Given the description of an element on the screen output the (x, y) to click on. 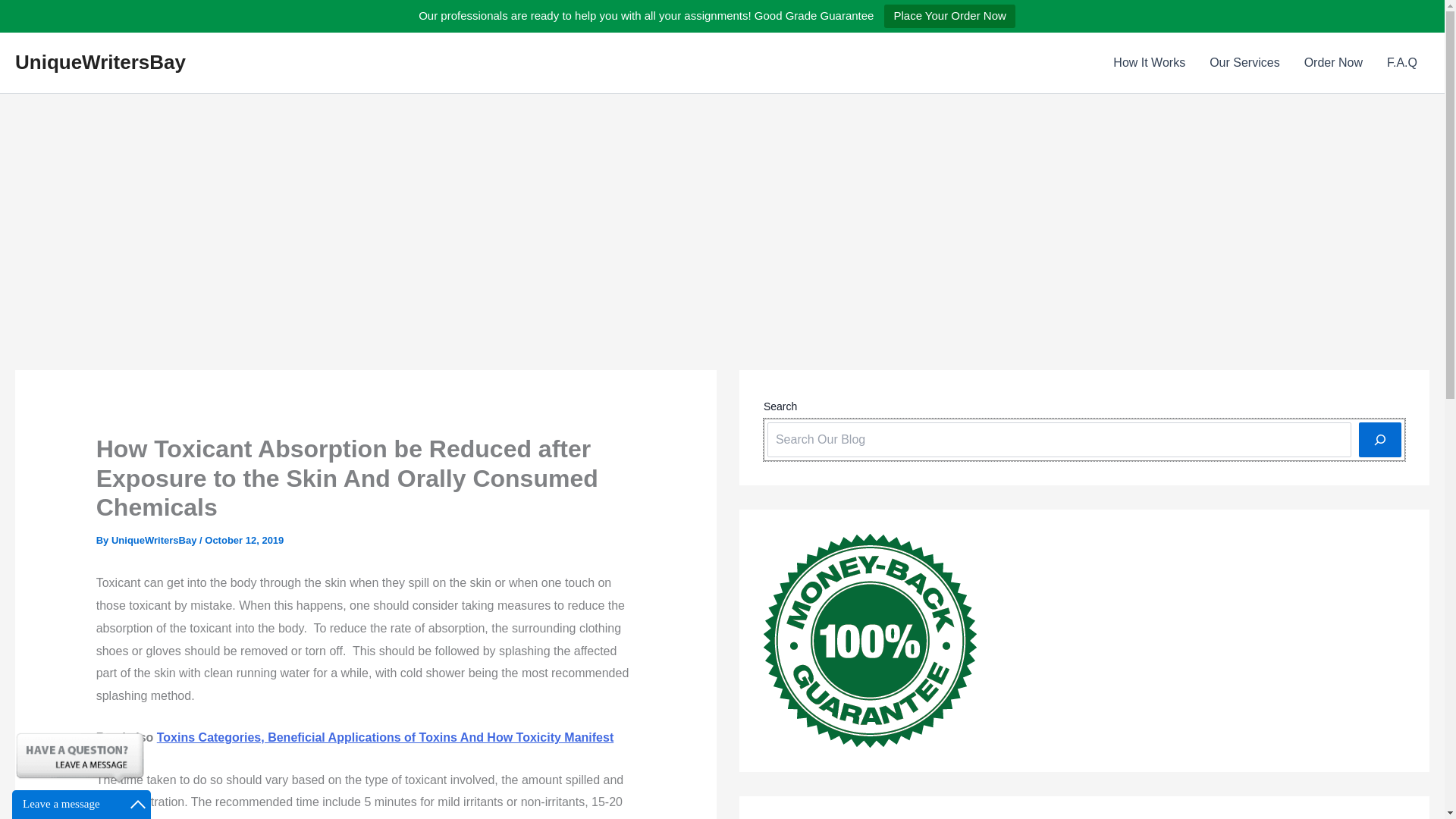
Order Now (1333, 62)
Our Services (1243, 62)
View all posts by UniqueWritersBay (155, 540)
F.A.Q (1401, 62)
Maximize (138, 804)
UniqueWritersBay (155, 540)
Place Your Order Now (948, 15)
UniqueWritersBay (100, 61)
How It Works (1148, 62)
